Given the description of an element on the screen output the (x, y) to click on. 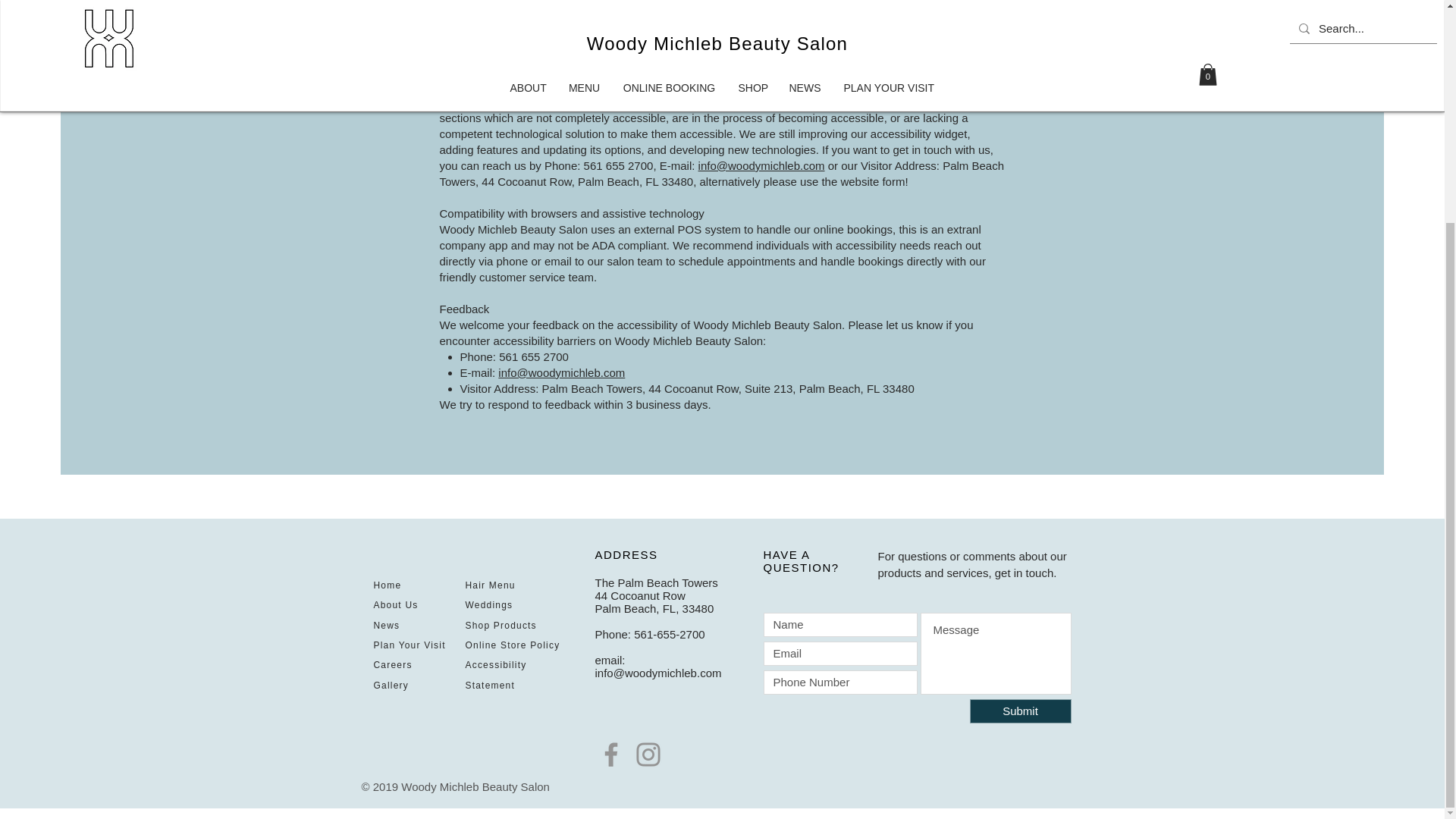
Careers (392, 665)
561-655-2700 (668, 634)
Home (386, 584)
Gallery (389, 685)
Plan Your Visit (408, 644)
Accessibility Statement (496, 675)
Shop Products (501, 624)
About Us (394, 604)
Hair Menu (490, 584)
News (385, 624)
